Given the description of an element on the screen output the (x, y) to click on. 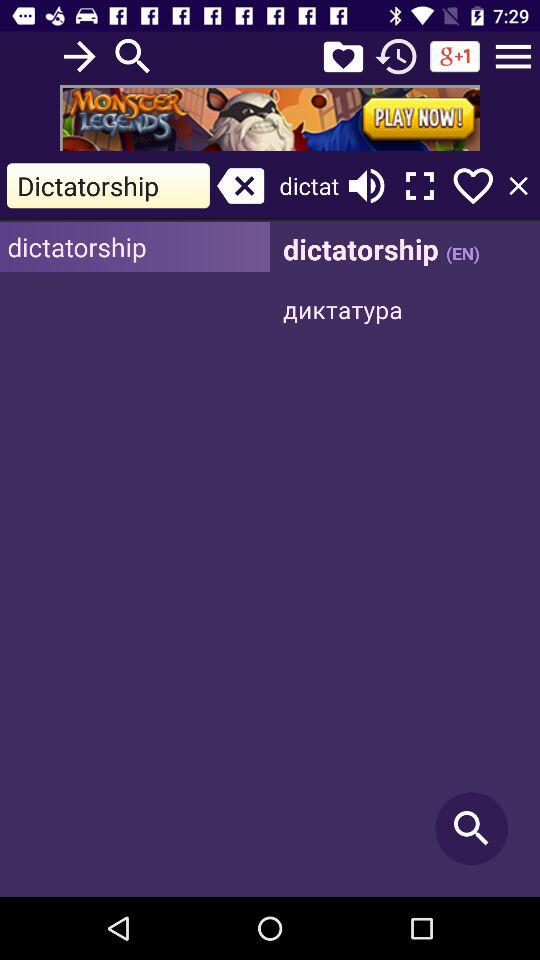
refresh (396, 56)
